Given the description of an element on the screen output the (x, y) to click on. 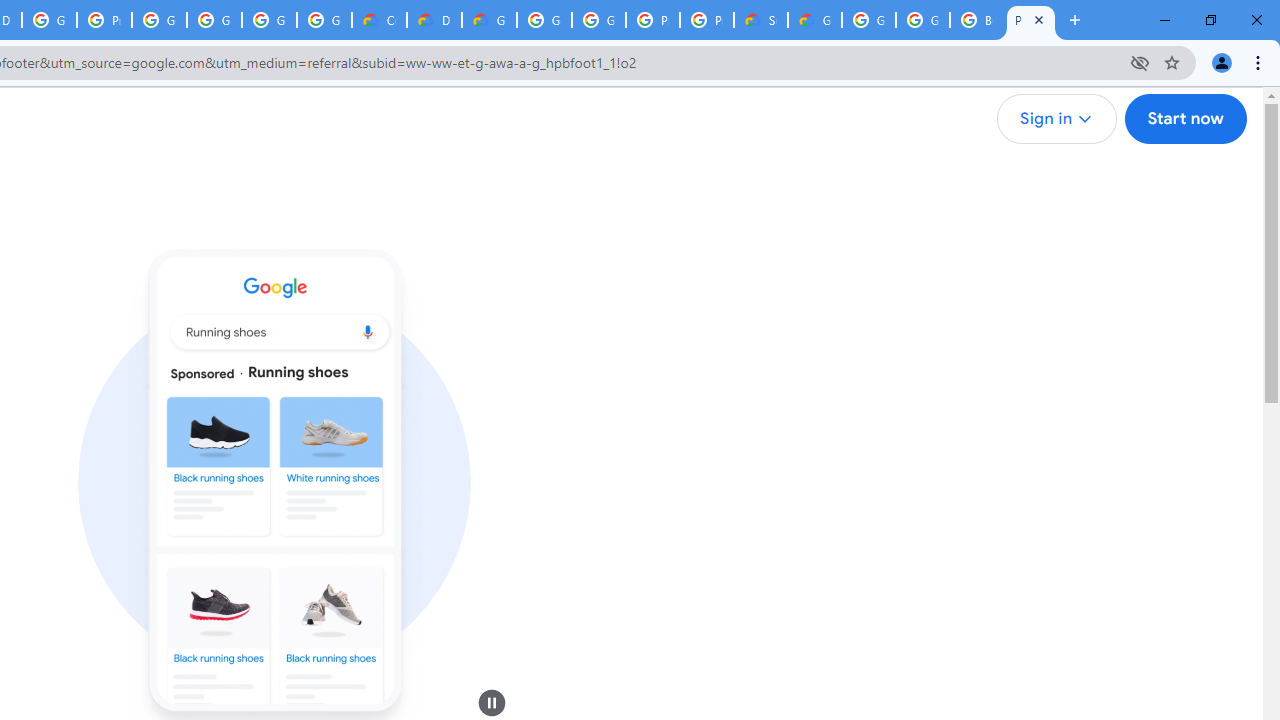
Customer Care | Google Cloud (379, 20)
Start now (1184, 119)
Google Workspace - Specific Terms (324, 20)
Google Cloud Platform (544, 20)
Gemini for Business and Developers | Google Cloud (489, 20)
Google Cloud Service Health (815, 20)
